Given the description of an element on the screen output the (x, y) to click on. 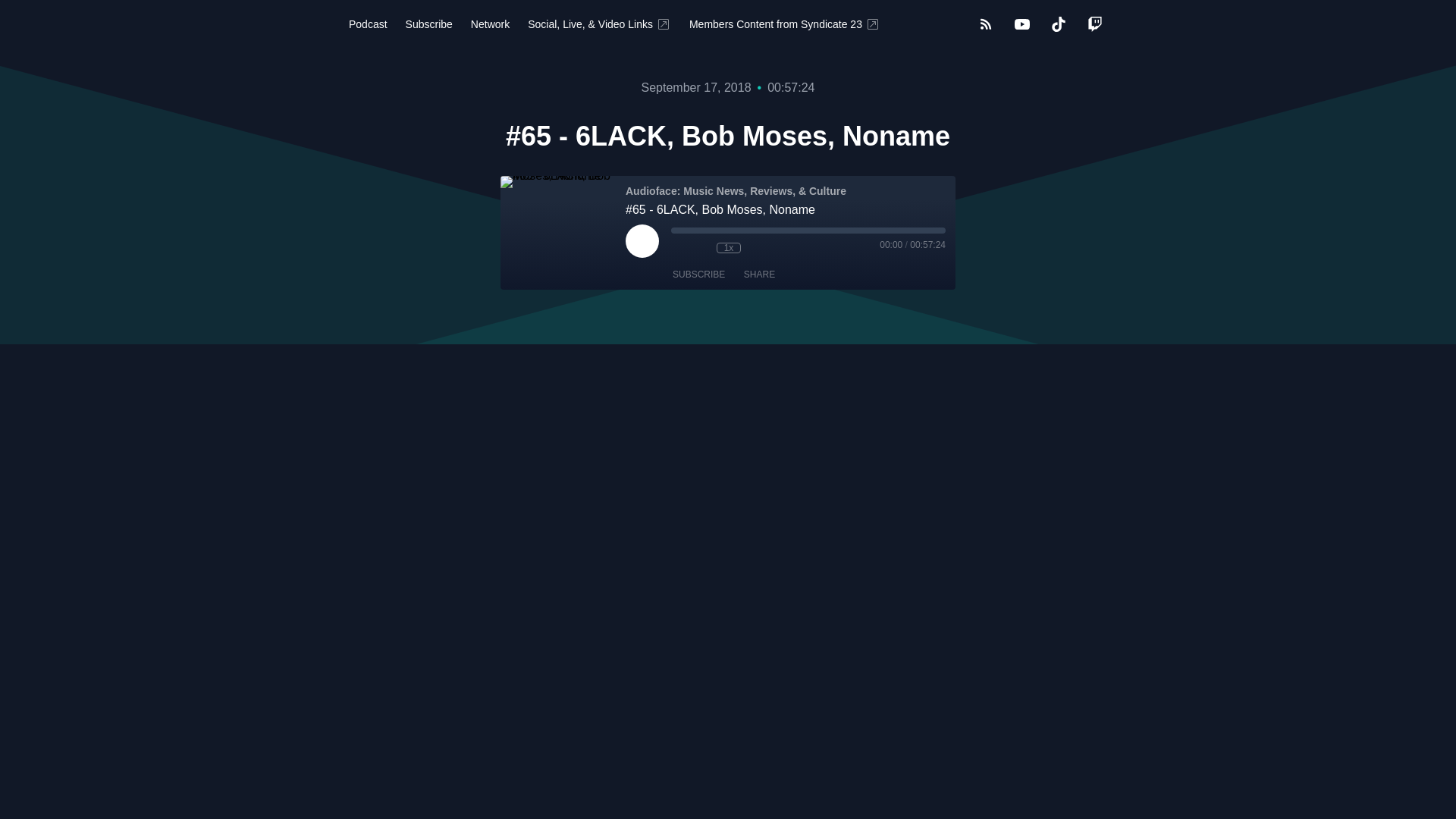
Subscribe (428, 24)
Network (489, 24)
1x (728, 247)
SUBSCRIBE (698, 273)
Podcast (367, 24)
SHARE (759, 273)
Members Content from Syndicate 23 (784, 24)
Seek (807, 230)
